Given the description of an element on the screen output the (x, y) to click on. 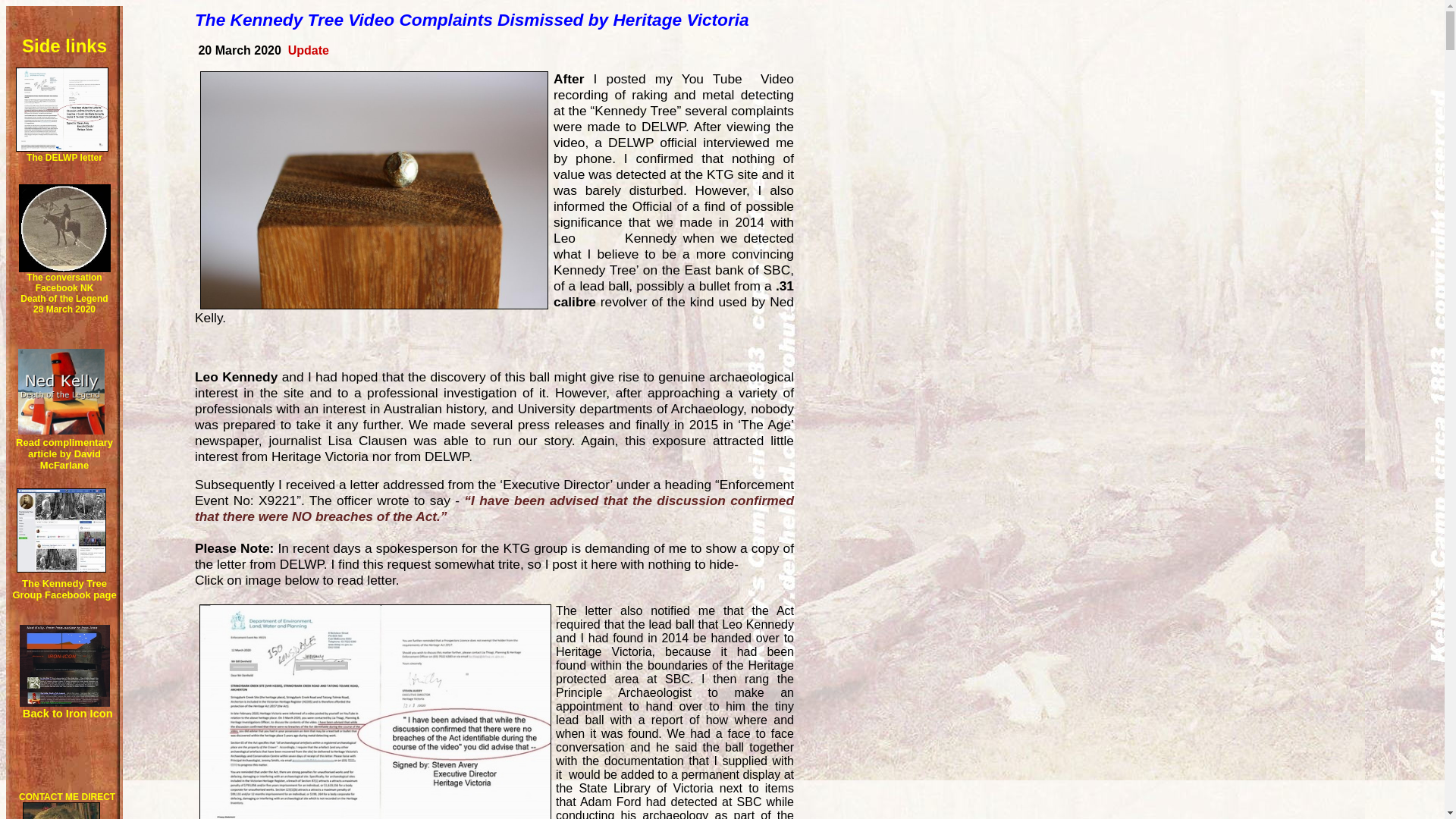
CONTACT ME Element type: text (48, 796)
